Given the description of an element on the screen output the (x, y) to click on. 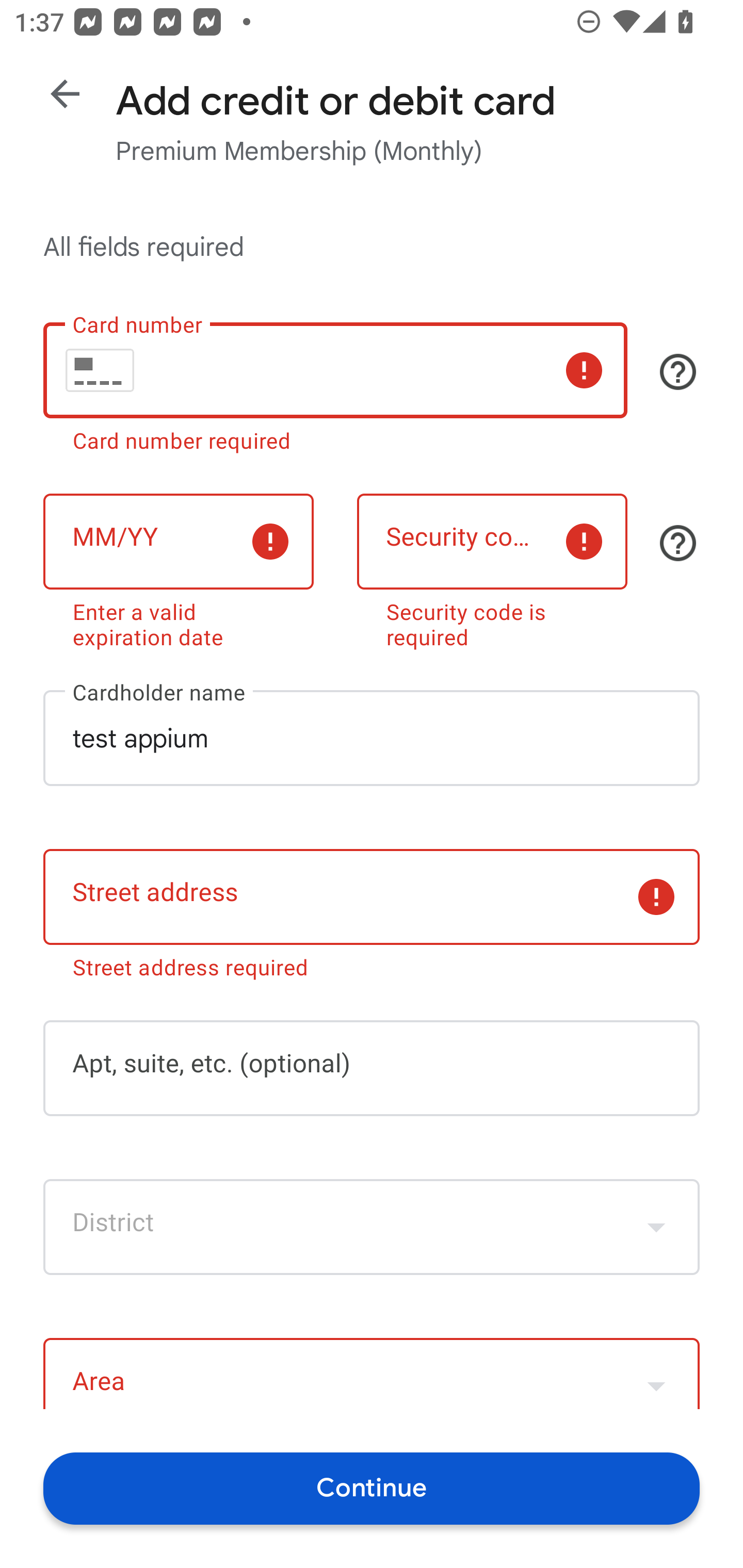
Back (64, 93)
Card number (335, 370)
Button, shows cards that are accepted for payment (677, 371)
Security code Error Security code is required (492, 567)
Expiration date, 2 digit month, 2 digit year (178, 541)
Security code (492, 541)
Security code help (677, 543)
test appium (371, 737)
Street address (371, 896)
Apt, suite, etc. (optional) (371, 1068)
District (371, 1226)
Show dropdown menu (655, 1226)
Area (371, 1373)
Show dropdown menu (655, 1375)
Continue (371, 1487)
